Given the description of an element on the screen output the (x, y) to click on. 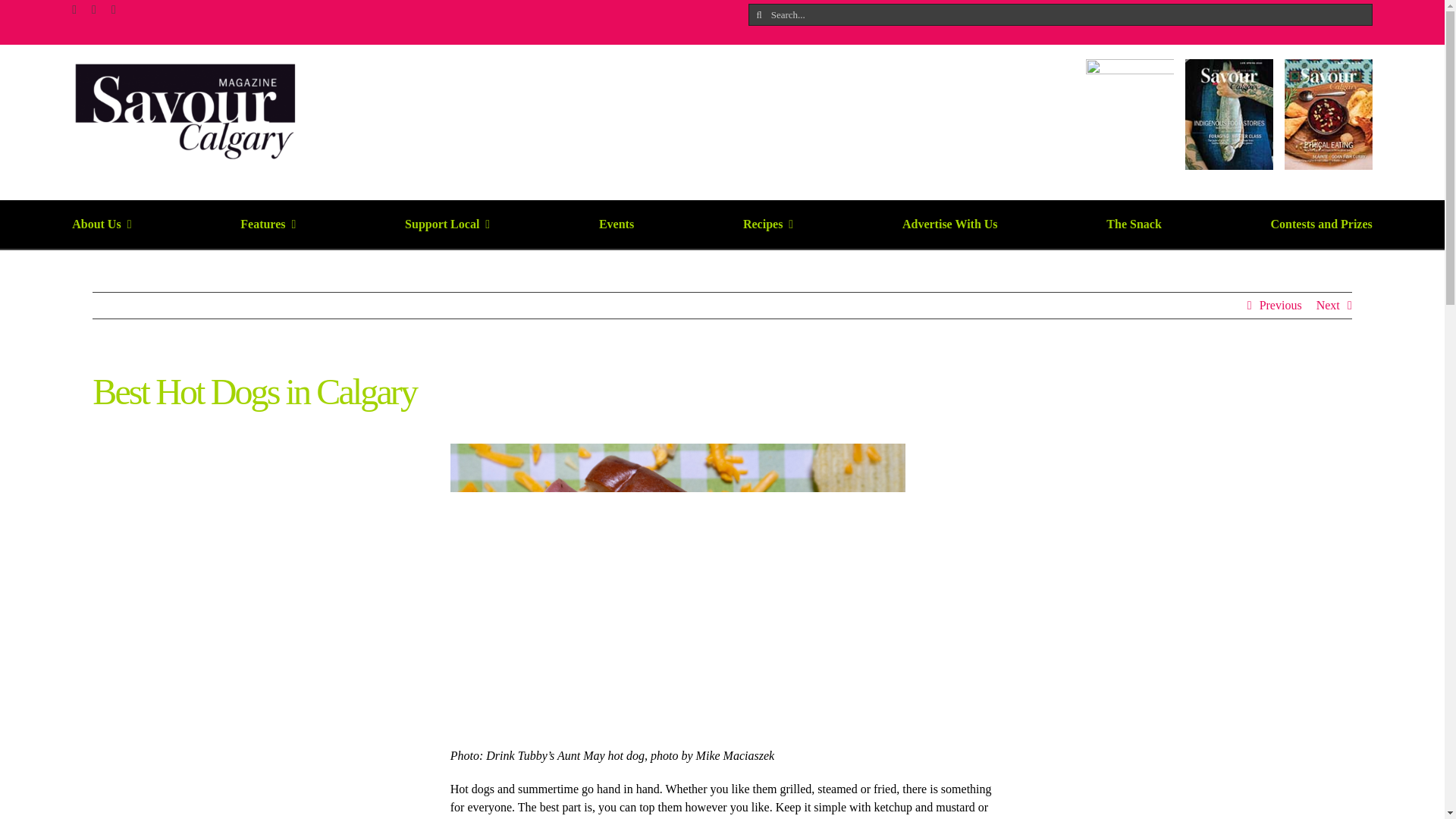
Support Local (446, 223)
Recipes (767, 223)
About Us (101, 223)
Features (267, 223)
